Given the description of an element on the screen output the (x, y) to click on. 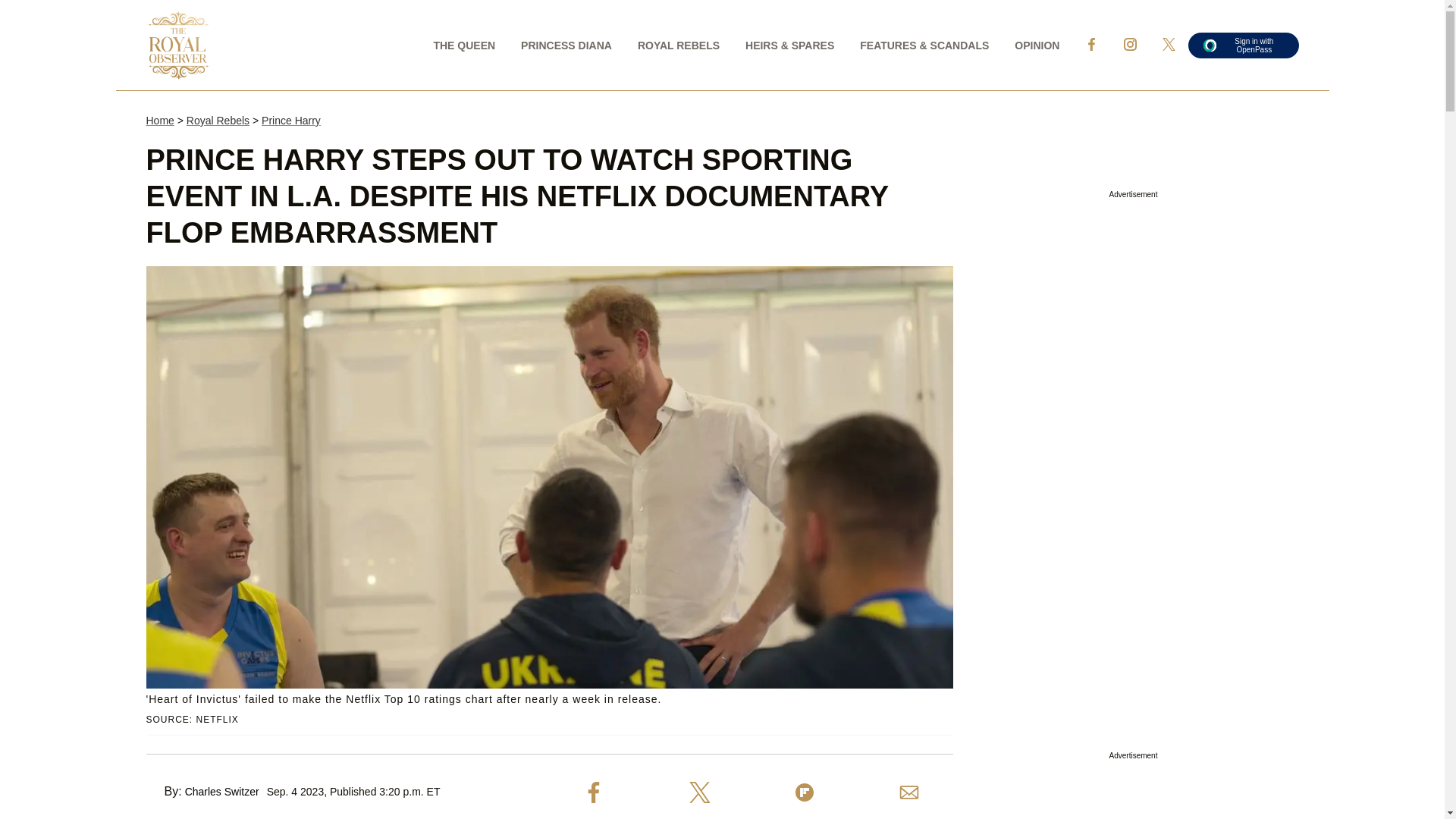
Link to Instagram (1130, 44)
LINK TO X (1167, 43)
Charles Switzer (221, 791)
PRINCESS DIANA (566, 44)
Home (159, 120)
THE QUEEN (464, 44)
LINK TO INSTAGRAM (1130, 43)
LINK TO INSTAGRAM (1130, 44)
Link to X (1169, 44)
LINK TO X (1169, 44)
ROYAL REBELS (678, 44)
LINK TO FACEBOOK (1090, 43)
LINK TO FACEBOOK (1090, 44)
Prince Harry (291, 120)
Royal Rebels (217, 120)
